Given the description of an element on the screen output the (x, y) to click on. 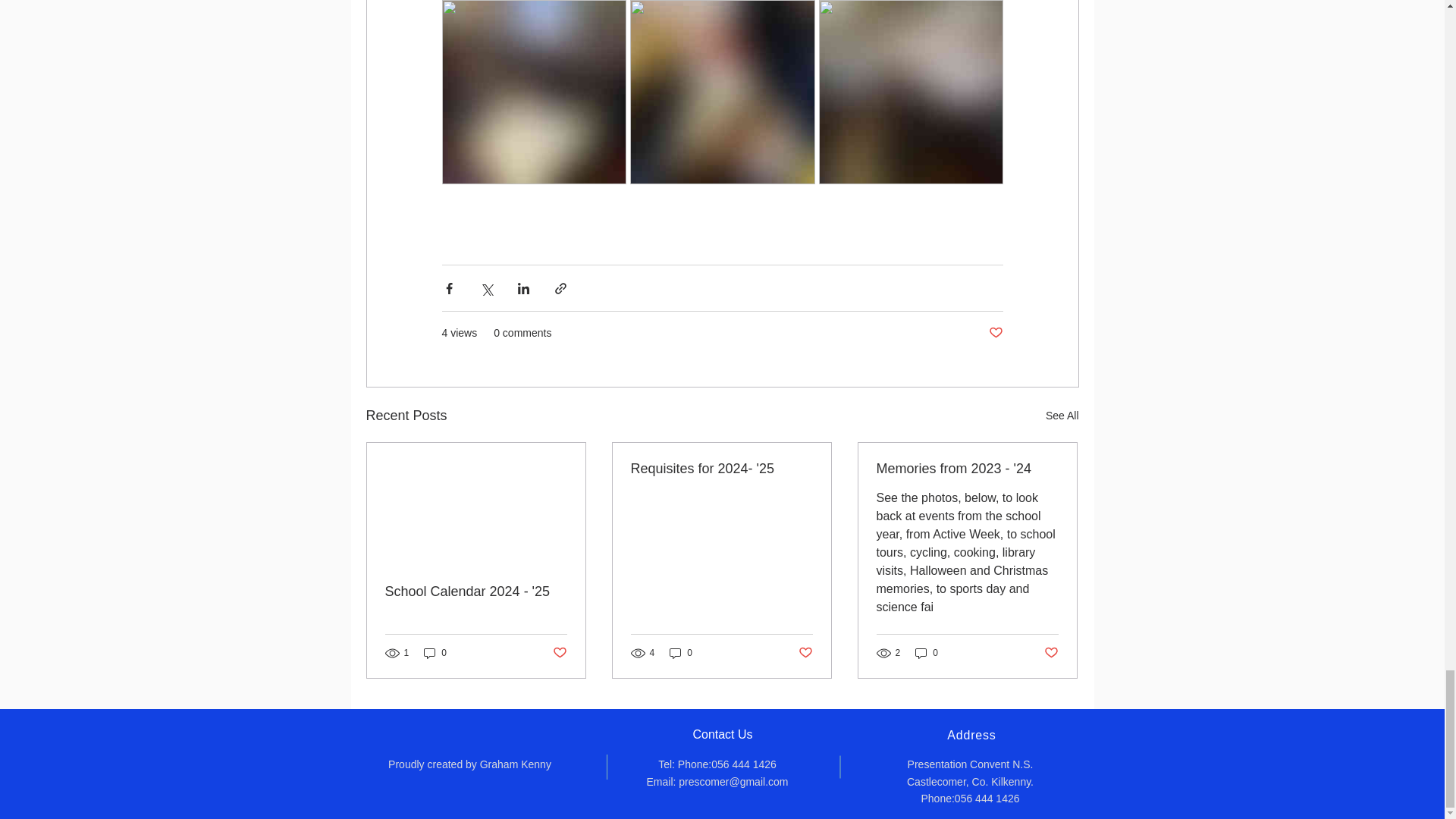
Post not marked as liked (995, 333)
School Calendar 2024 - '25 (476, 591)
Post not marked as liked (804, 652)
See All (1061, 415)
Memories from 2023 - '24 (967, 468)
Post not marked as liked (558, 652)
Post not marked as liked (1050, 652)
Requisites for 2024- '25 (721, 468)
0 (681, 653)
0 (435, 653)
0 (926, 653)
